Given the description of an element on the screen output the (x, y) to click on. 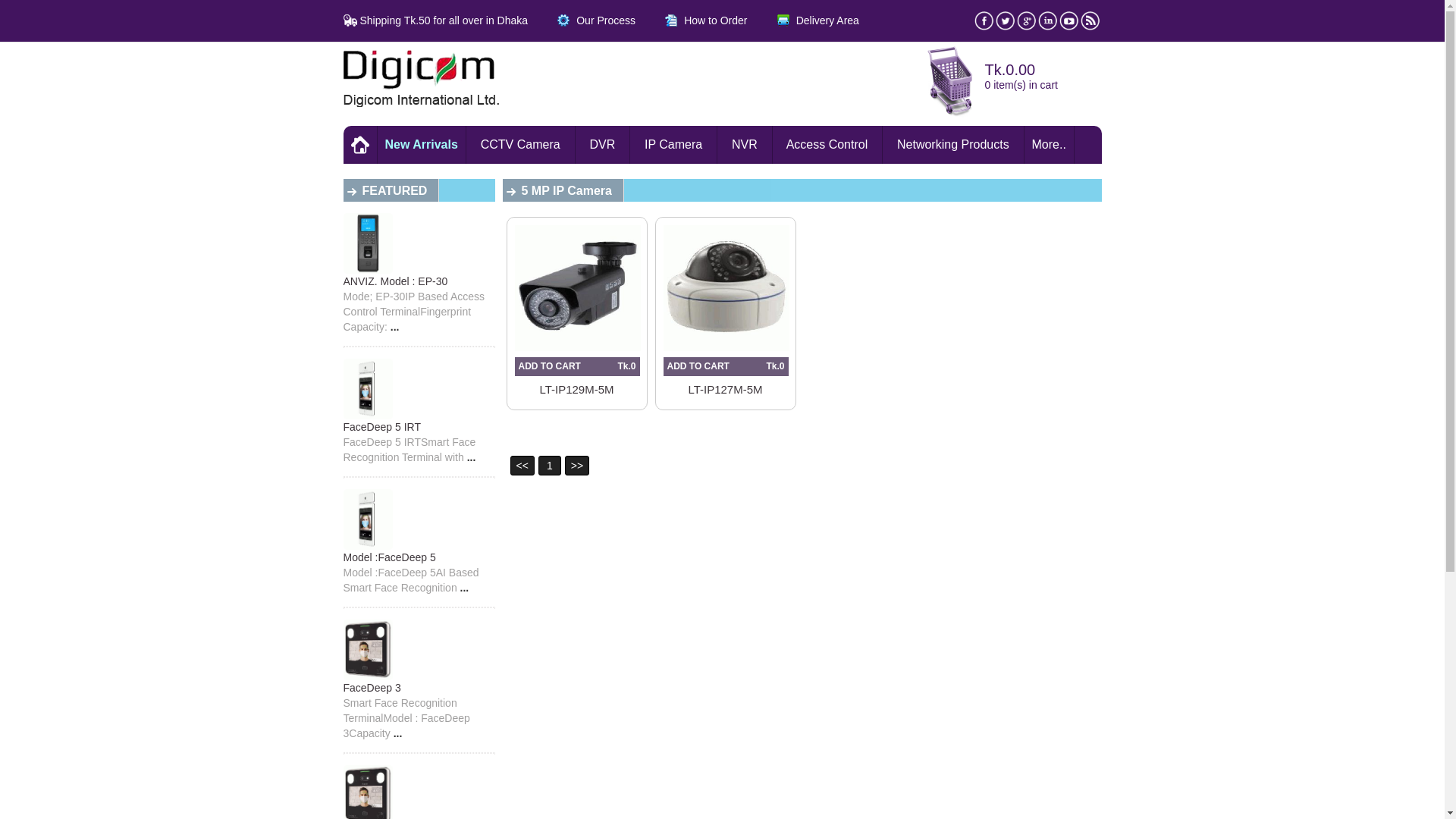
... Element type: text (397, 733)
  Networking Products   Element type: text (952, 144)
  DVR   Element type: text (602, 144)
RSS Feed Element type: hover (1090, 25)
More.. Element type: text (1049, 144)
New Arrivals Element type: text (421, 144)
How to Order Element type: text (692, 19)
Facebook Element type: hover (983, 25)
Linkedin Element type: hover (1047, 25)
  CCTV Camera   Element type: text (520, 144)
... Element type: text (394, 326)
Youtube Element type: hover (1068, 25)
  Access Control   Element type: text (827, 144)
... Element type: text (464, 587)
Google Plus Element type: hover (1026, 25)
  NVR   Element type: text (744, 144)
Twitter Element type: hover (1005, 25)
... Element type: text (471, 457)
  IP Camera   Element type: text (673, 144)
Our Process Element type: text (582, 19)
Delivery Area Element type: text (804, 19)
